Given the description of an element on the screen output the (x, y) to click on. 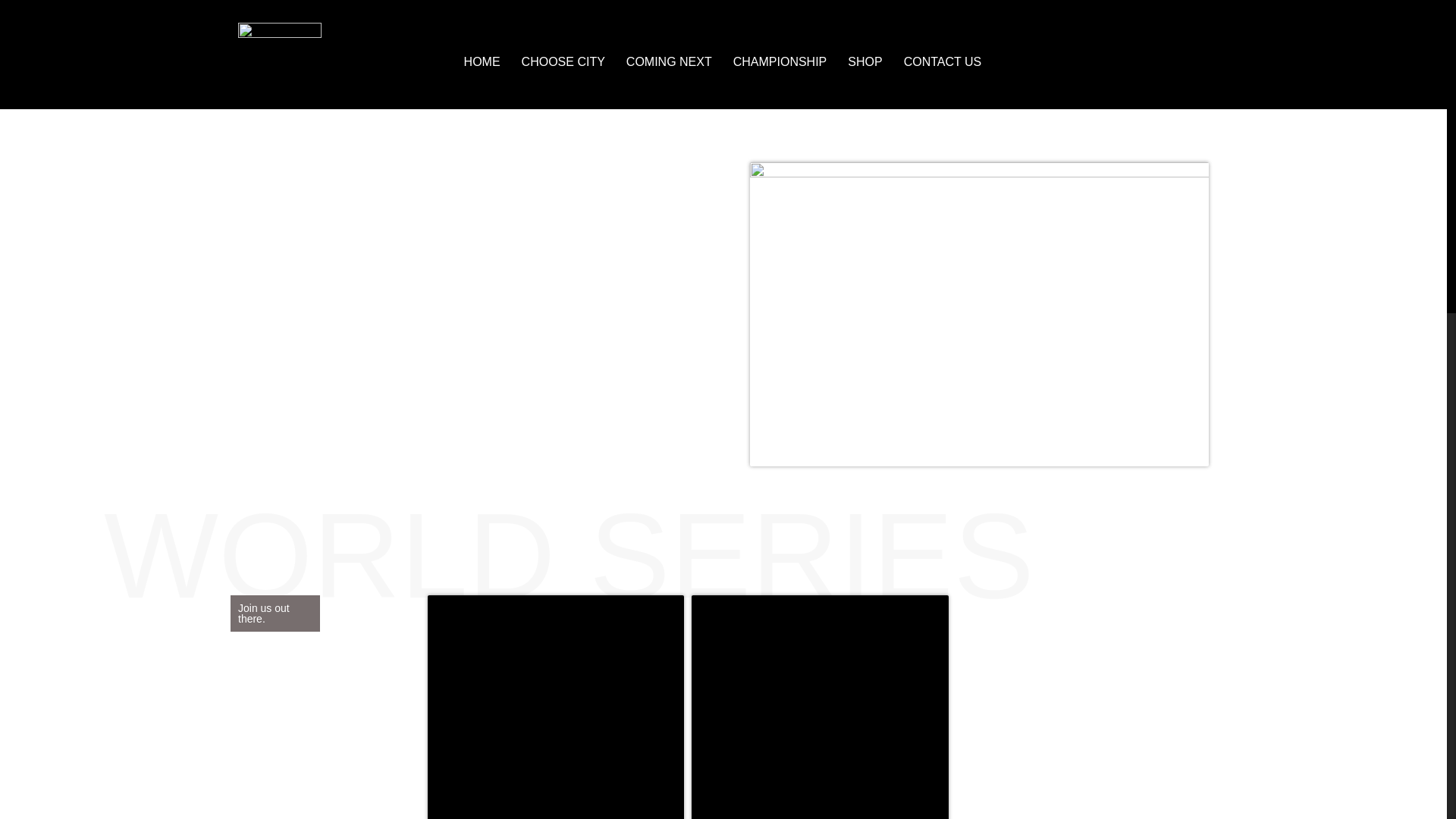
COMING NEXT (668, 62)
HOME (481, 62)
CHOOSE CITY (563, 62)
CONTACT US (942, 62)
SHOP (864, 62)
CHAMPIONSHIP (780, 62)
